Given the description of an element on the screen output the (x, y) to click on. 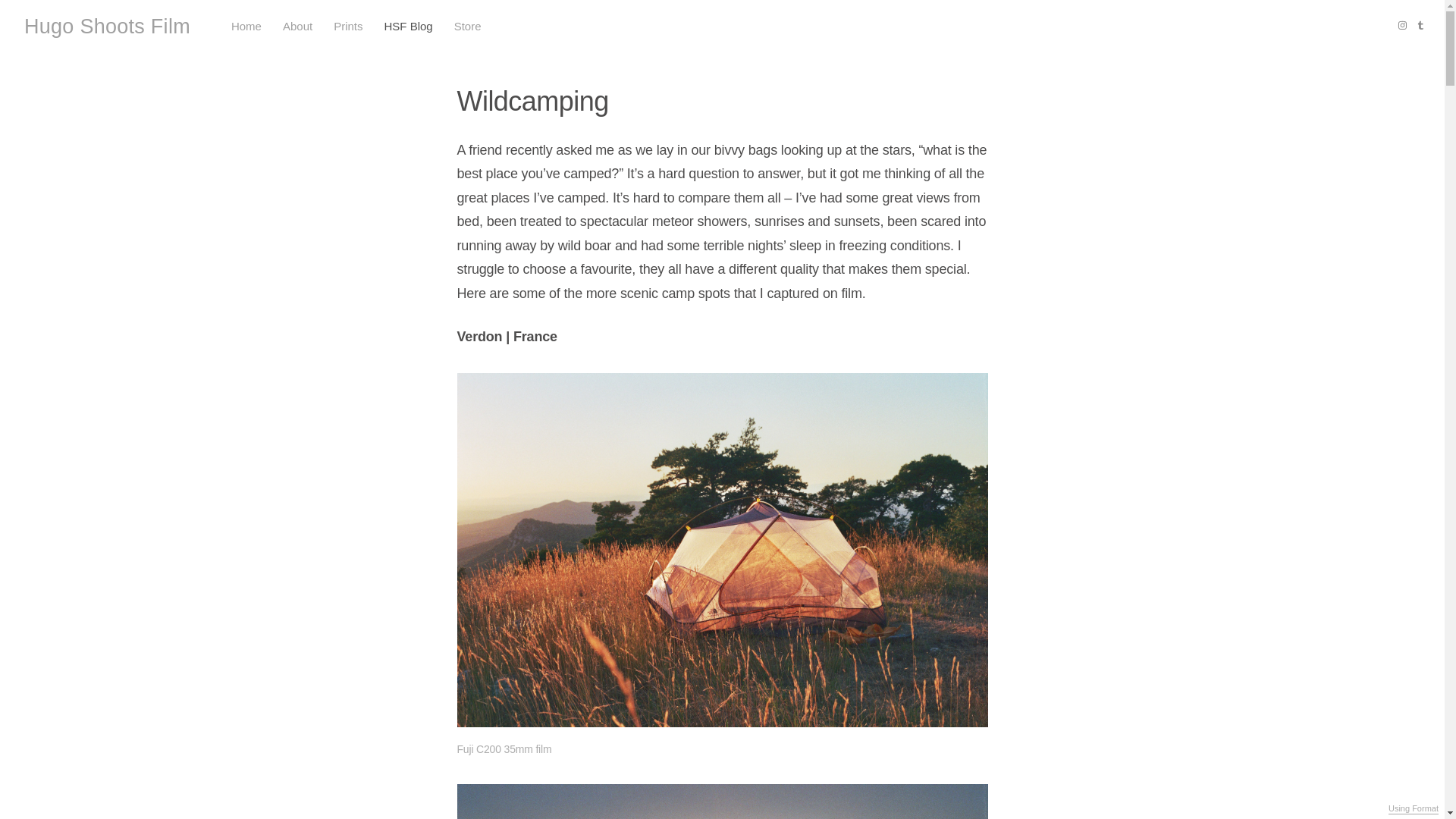
Hugo Shoots Film (107, 26)
Home (246, 26)
About (297, 26)
Using Format (1413, 808)
Store (468, 26)
Fuji C200 35mm film (722, 801)
HSF Blog (407, 26)
Fuji C200 35mm film (722, 801)
